Given the description of an element on the screen output the (x, y) to click on. 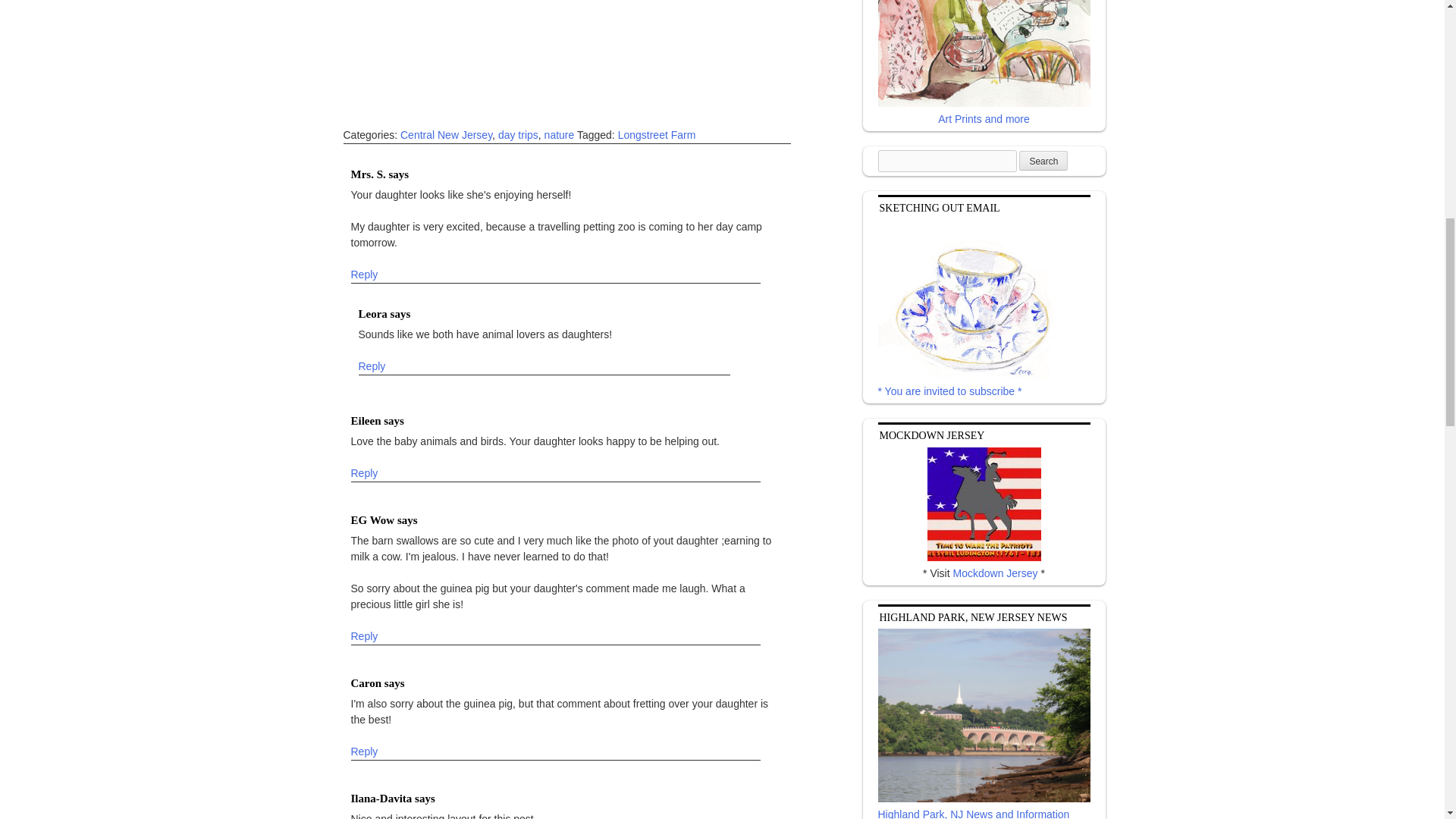
Reply (371, 366)
View all posts in day trips (517, 134)
View all posts tagged Longstreet Farm (656, 134)
Search (1043, 160)
day trips (517, 134)
Reply (363, 472)
bobbie (578, 55)
View all posts in nature (559, 134)
Reply (363, 635)
View all posts in Central New Jersey (446, 134)
Reply (363, 274)
Longstreet Farm (656, 134)
Central New Jersey (446, 134)
nature (559, 134)
Reply (363, 751)
